Given the description of an element on the screen output the (x, y) to click on. 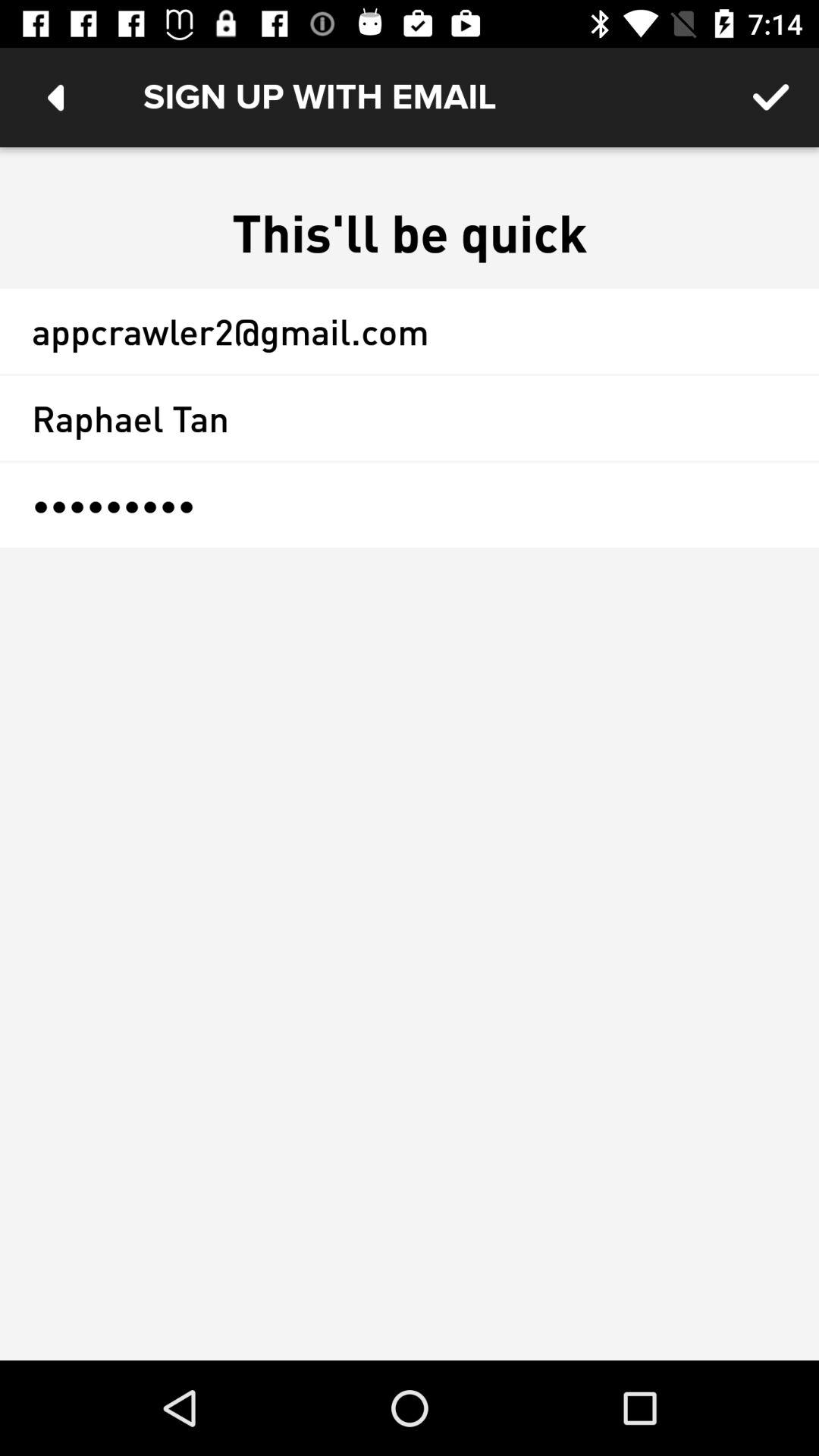
press item below this ll be (409, 330)
